Given the description of an element on the screen output the (x, y) to click on. 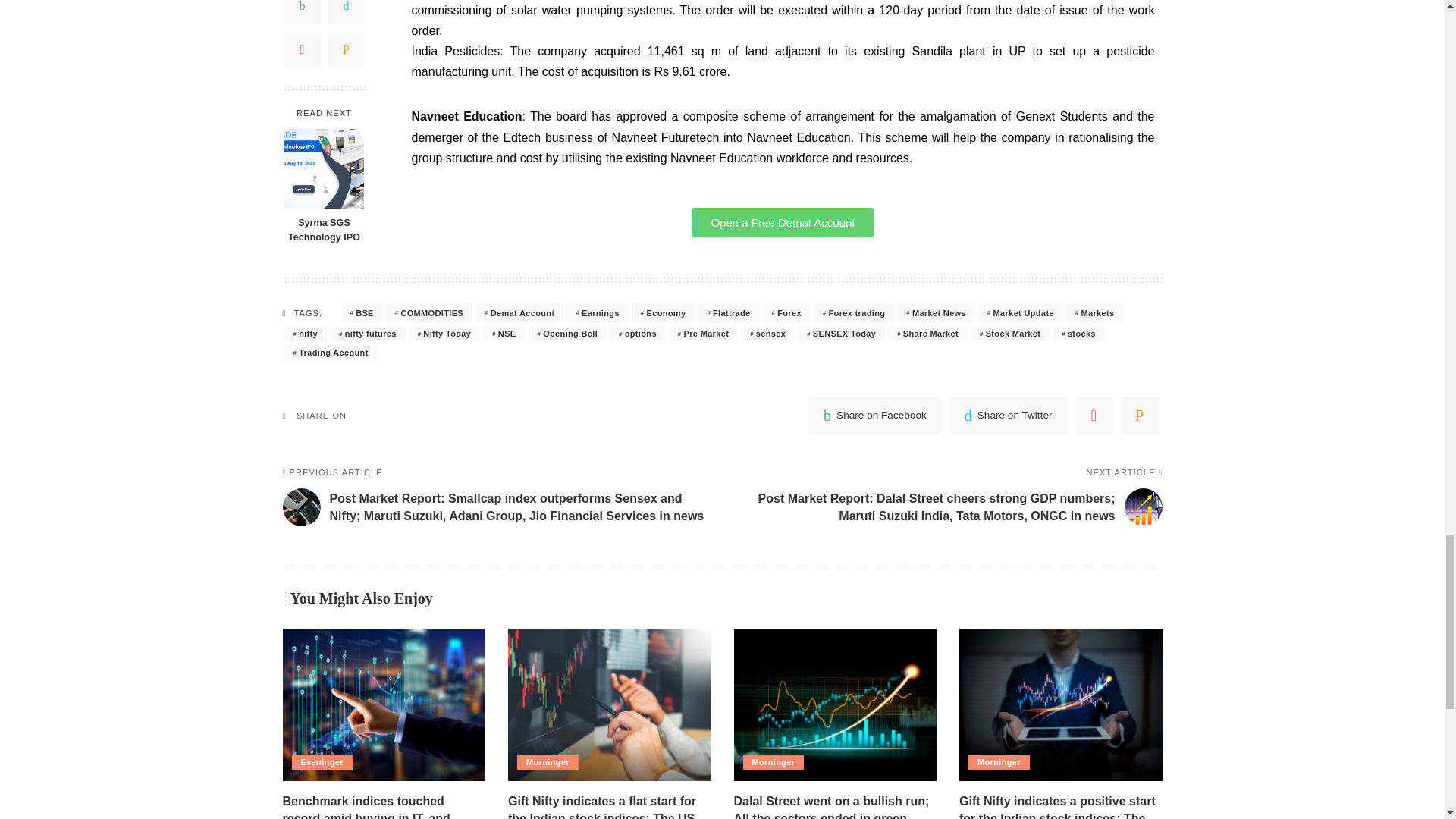
BSE (361, 312)
